Given the description of an element on the screen output the (x, y) to click on. 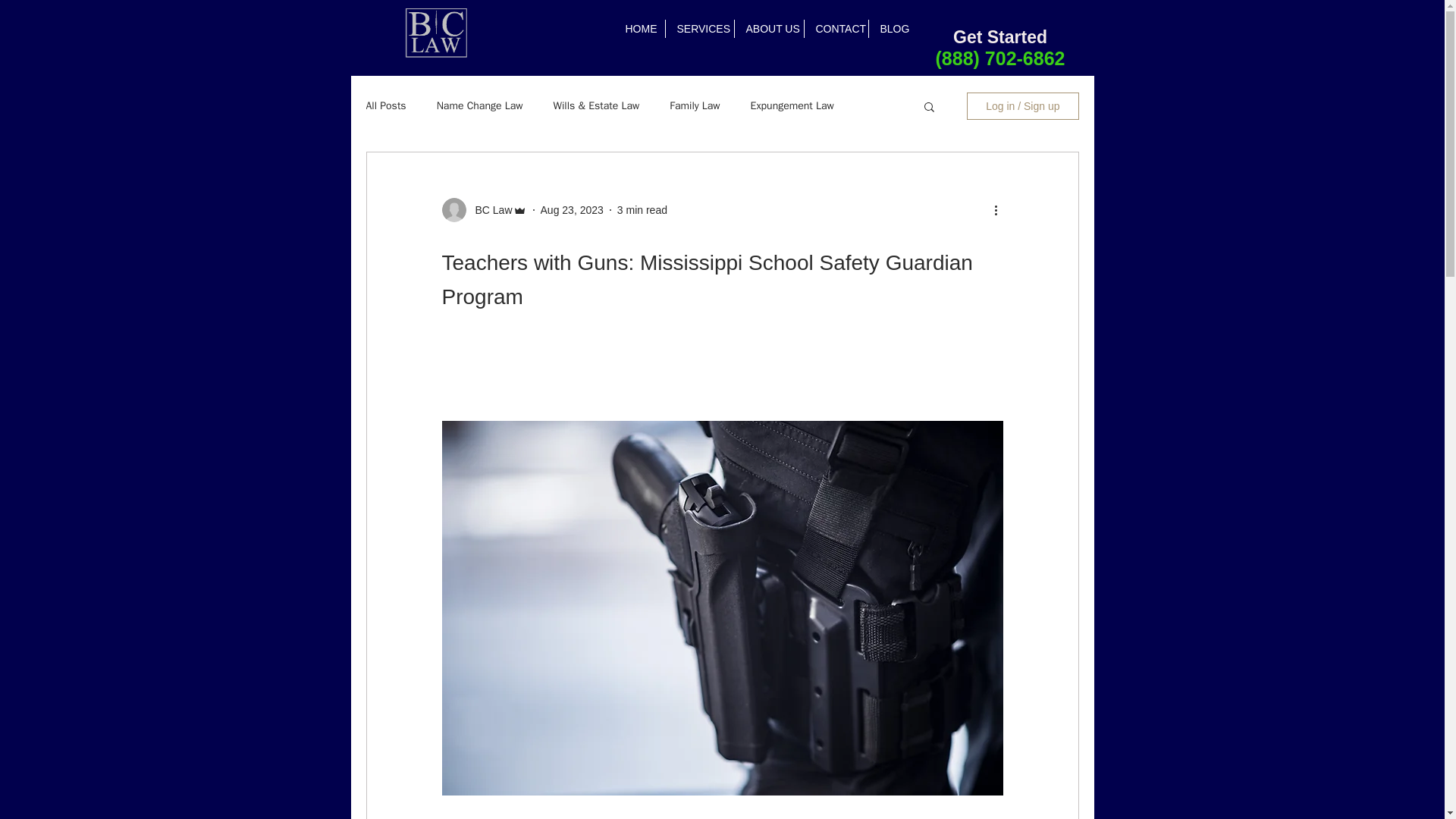
CONTACT (835, 28)
HOME (639, 28)
SERVICES (699, 28)
Name Change Law (479, 106)
Family Law (694, 106)
ABOUT US (768, 28)
BC Law  (488, 209)
BLOG (893, 28)
Expungement Law (792, 106)
Aug 23, 2023 (572, 209)
3 min read (641, 209)
All Posts (385, 106)
